Given the description of an element on the screen output the (x, y) to click on. 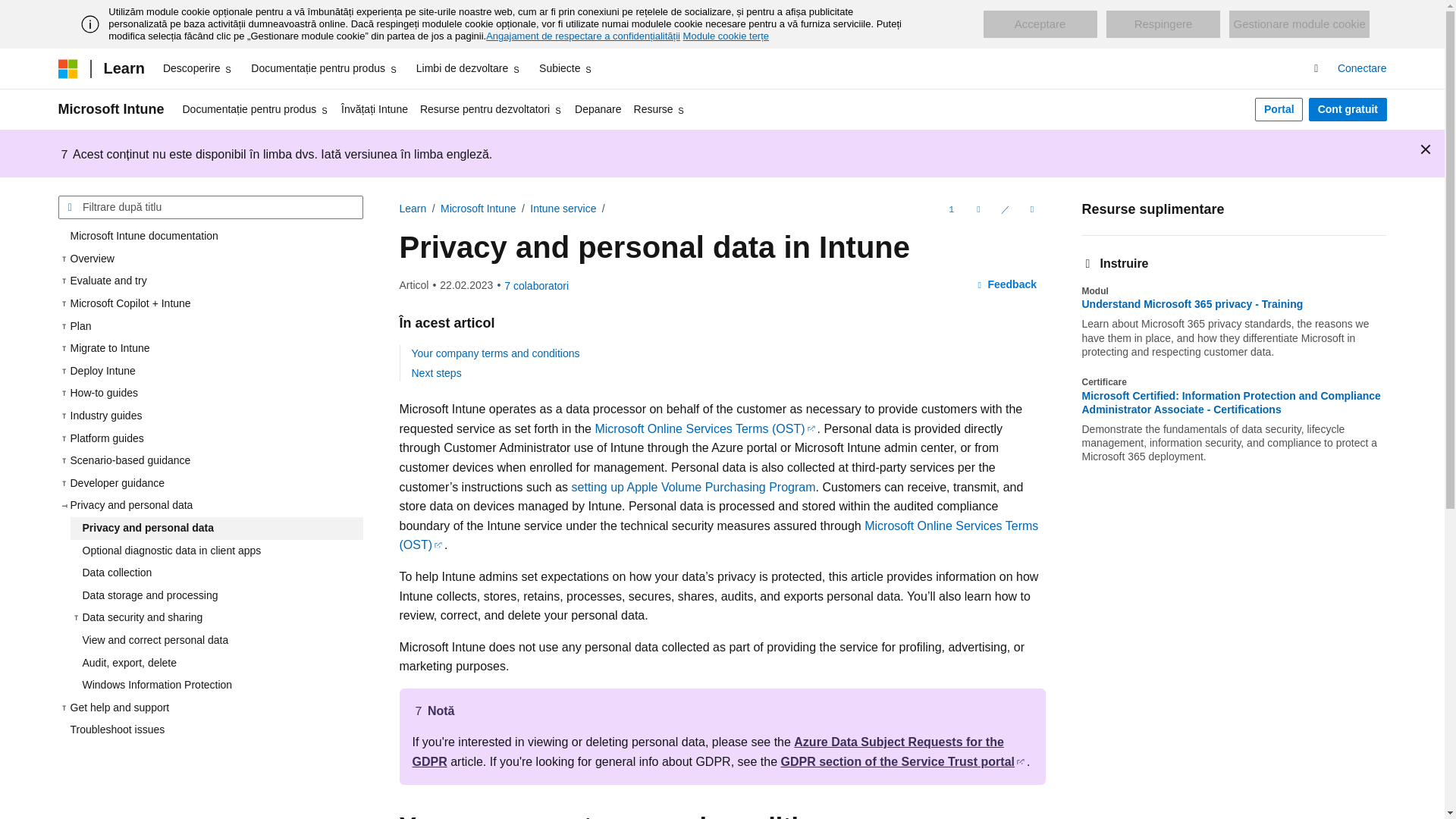
Learn (123, 68)
Limbi de dezvoltare (468, 68)
Resurse pentru dezvoltatori (491, 109)
Conectare (1362, 68)
Subiecte (565, 68)
Descoperire (197, 68)
Depanare (598, 109)
Acceptare (1040, 23)
Respingere (1163, 23)
Gestionare module cookie (1298, 23)
Microsoft Intune (110, 109)
Resurse (660, 109)
